Given the description of an element on the screen output the (x, y) to click on. 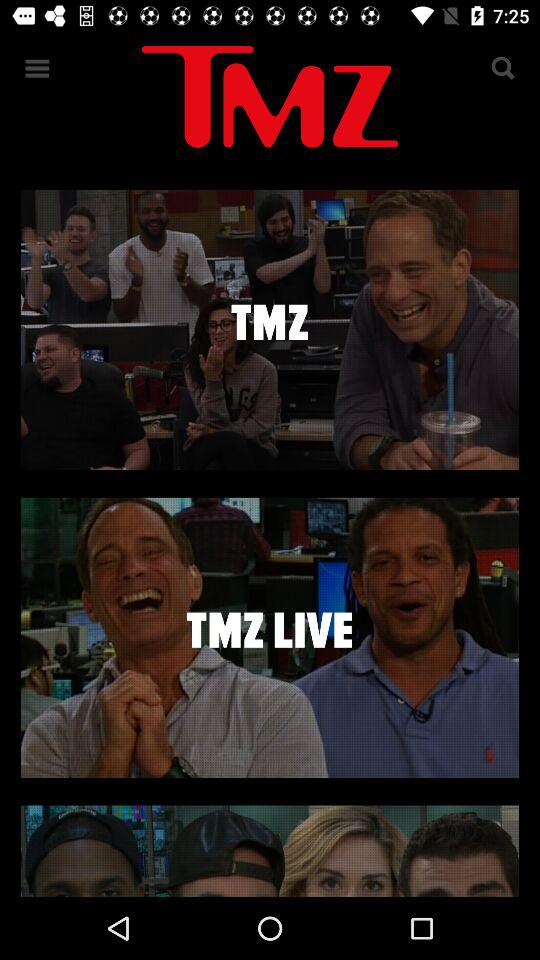
search (502, 68)
